Given the description of an element on the screen output the (x, y) to click on. 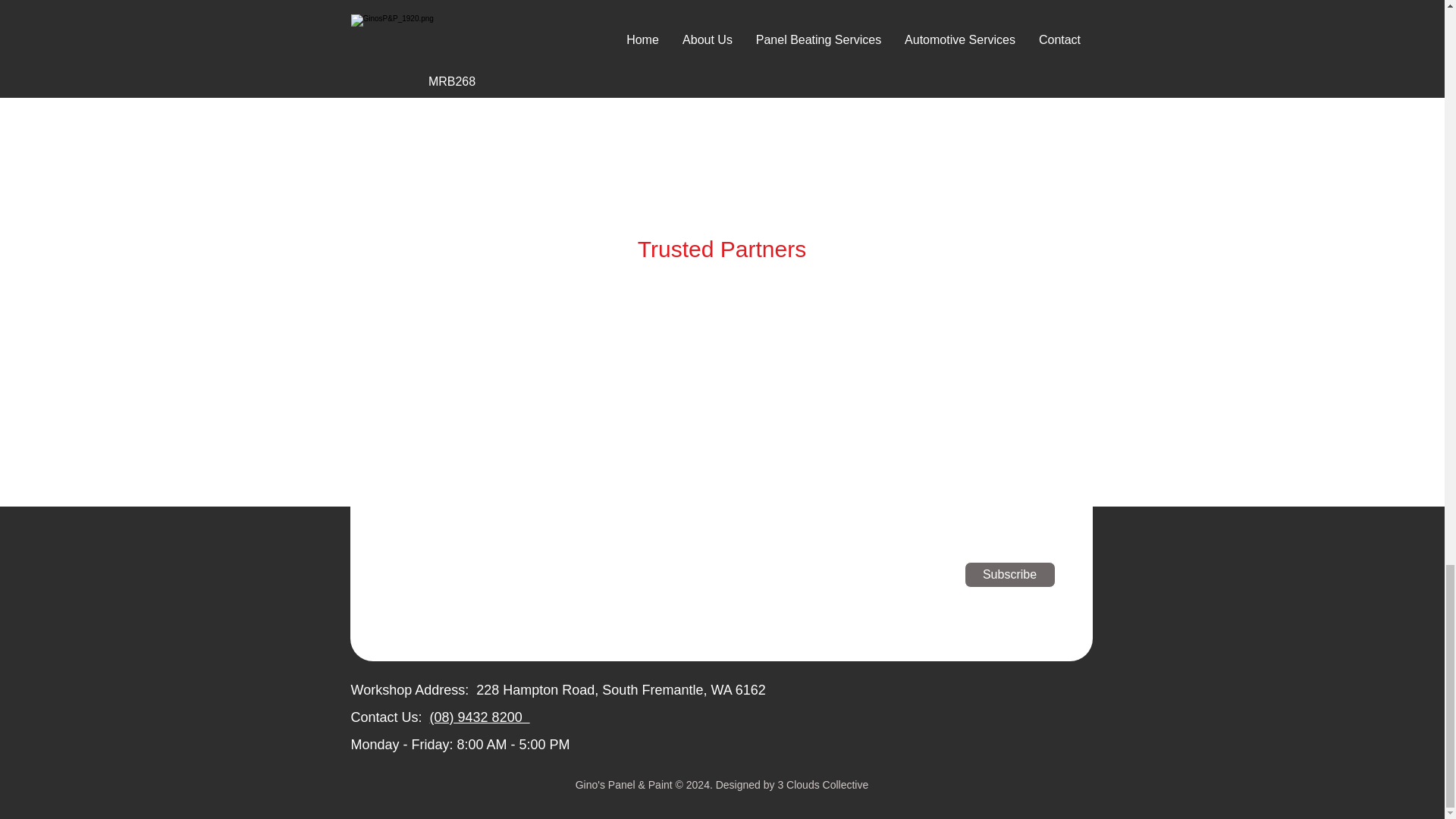
228 Hampton Road, South Fremantle, WA 6162 (620, 689)
Subscribe (1009, 574)
Contact Us: (386, 717)
